Given the description of an element on the screen output the (x, y) to click on. 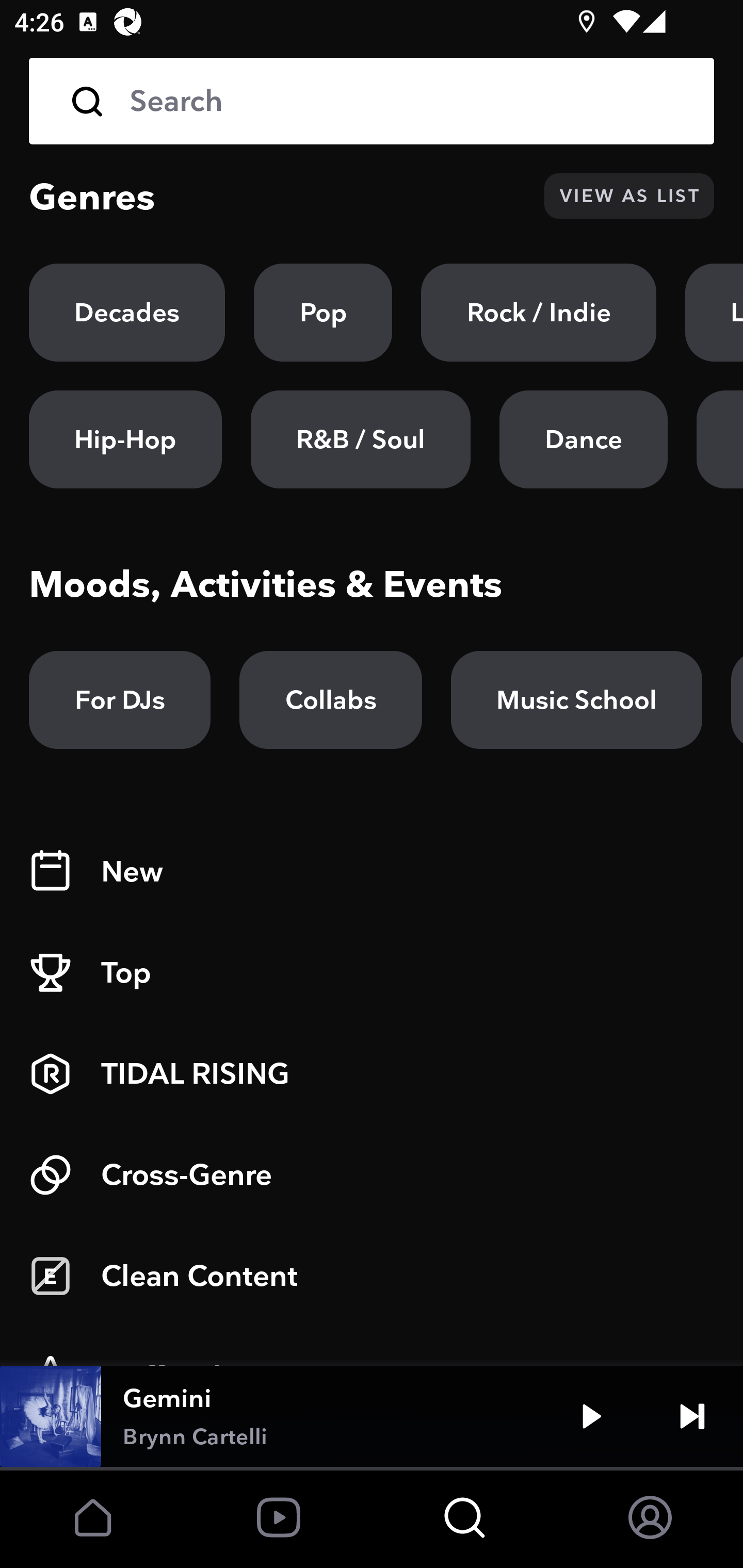
Search (371, 101)
Search (407, 100)
VIEW AS LIST (629, 195)
Decades (126, 312)
Pop (323, 312)
Rock / Indie (538, 312)
Latin (714, 312)
Hip-Hop (125, 439)
R&B / Soul (360, 439)
Dance (583, 439)
For DJs (119, 699)
Collabs (330, 699)
Music School (576, 699)
New (371, 871)
Top (371, 972)
TIDAL RISING (371, 1073)
Cross-Genre (371, 1175)
Clean Content (371, 1276)
Gemini Brynn Cartelli Play (371, 1416)
Play (590, 1416)
